Given the description of an element on the screen output the (x, y) to click on. 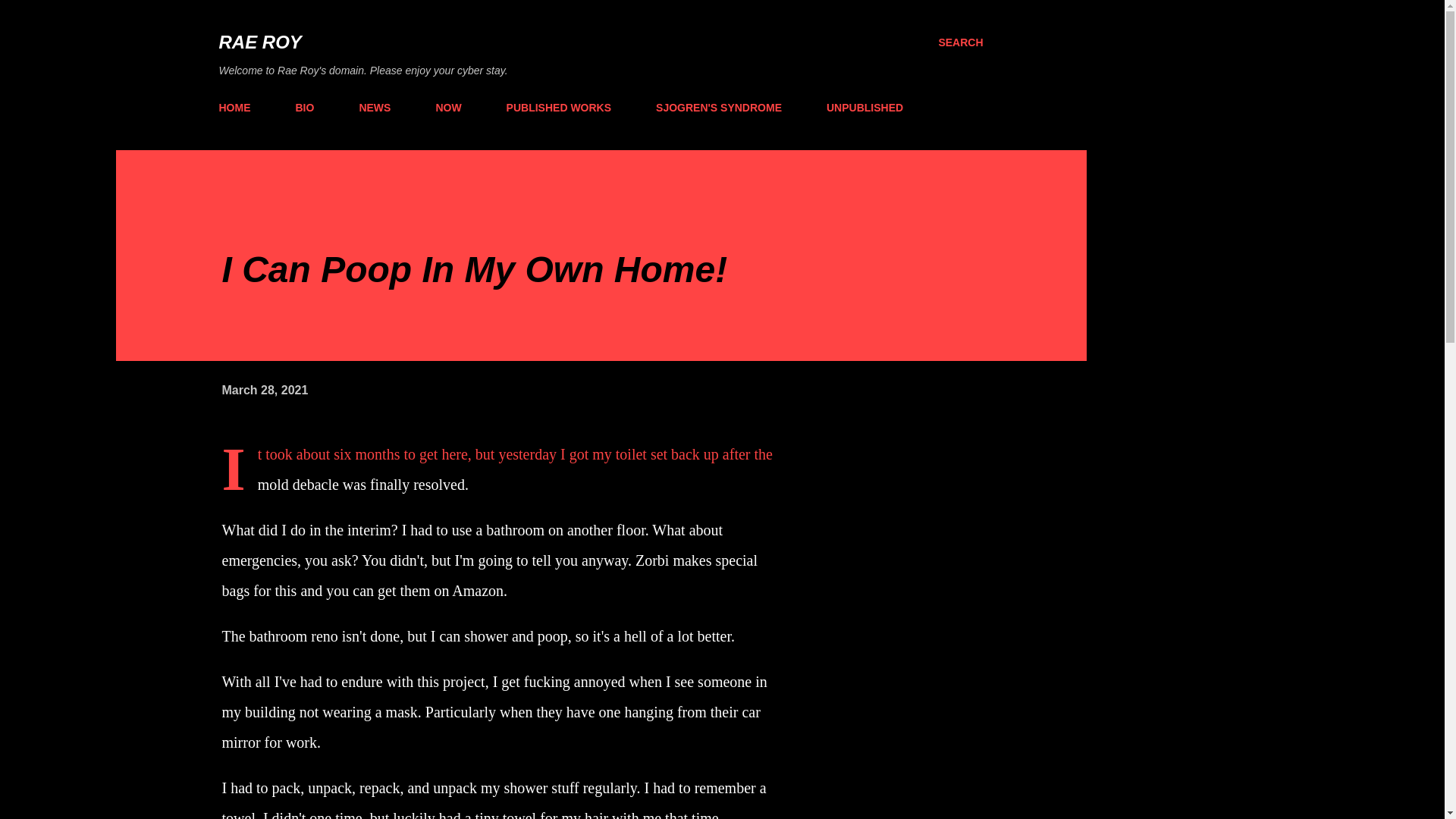
permanent link (264, 390)
HOME (238, 107)
UNPUBLISHED (864, 107)
SEARCH (959, 42)
BIO (304, 107)
NEWS (373, 107)
RAE ROY (259, 41)
SJOGREN'S SYNDROME (718, 107)
PUBLISHED WORKS (558, 107)
March 28, 2021 (264, 390)
